Given the description of an element on the screen output the (x, y) to click on. 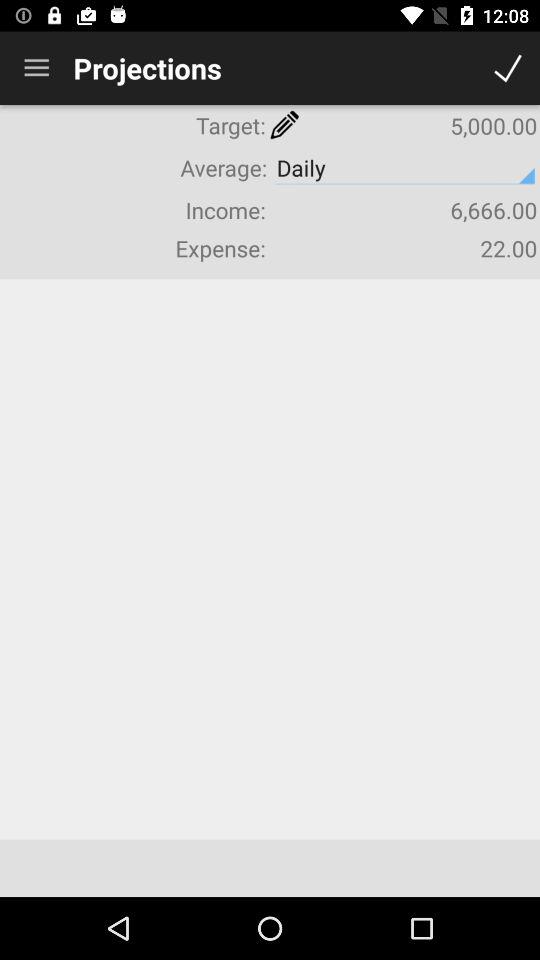
ready (508, 67)
